Given the description of an element on the screen output the (x, y) to click on. 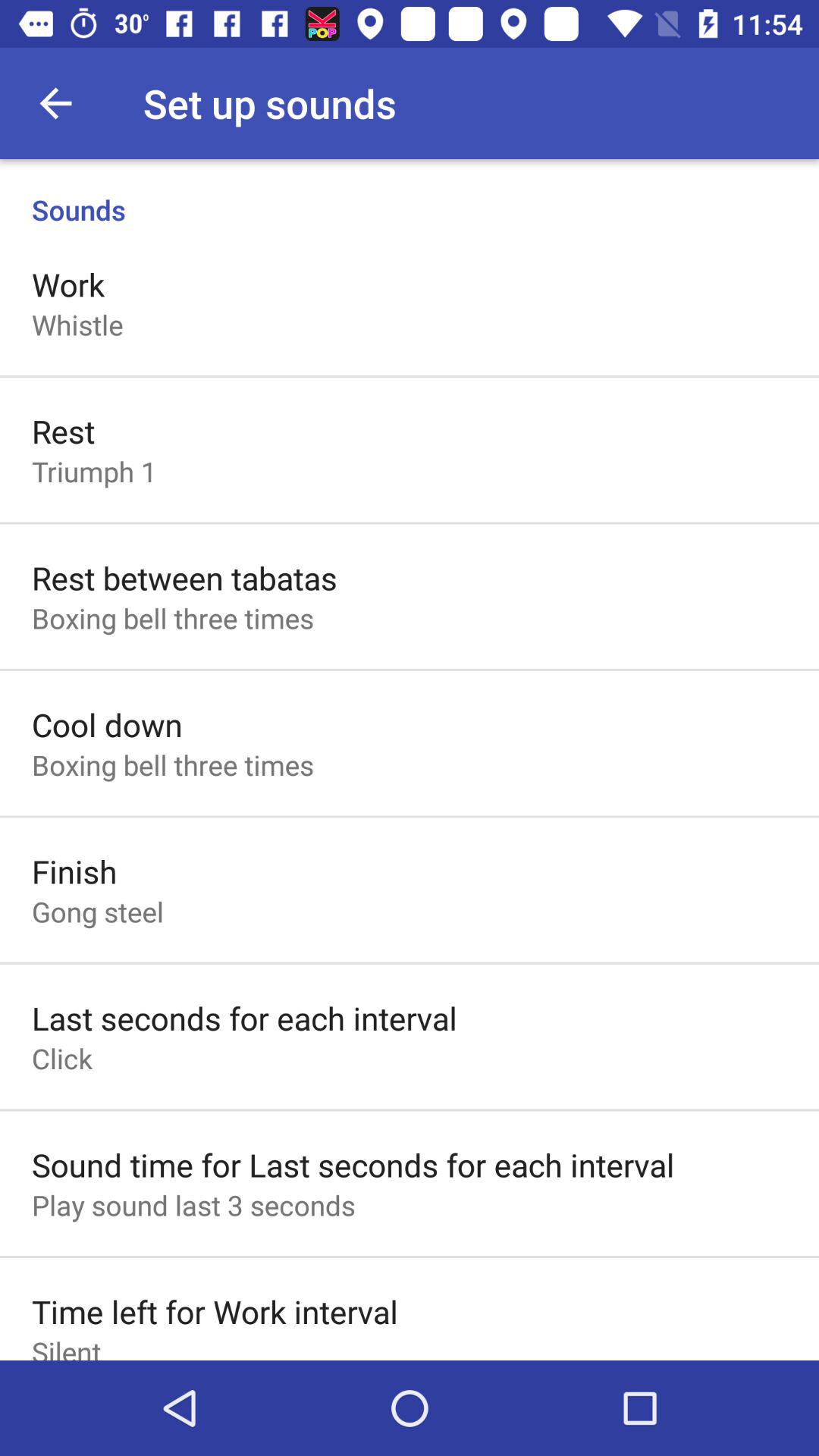
flip until silent (66, 1346)
